Given the description of an element on the screen output the (x, y) to click on. 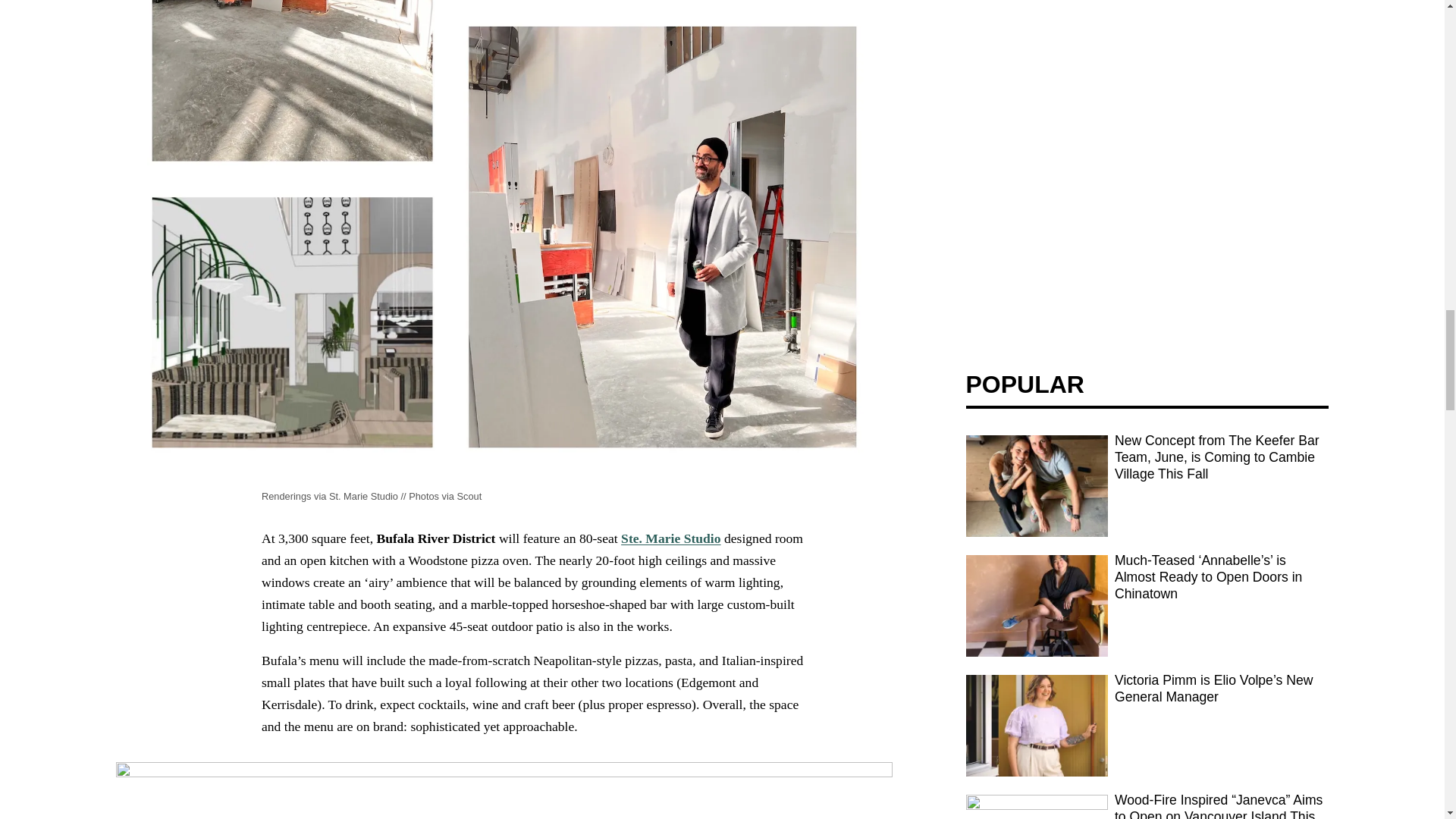
Ste. Marie Studio (670, 538)
